Given the description of an element on the screen output the (x, y) to click on. 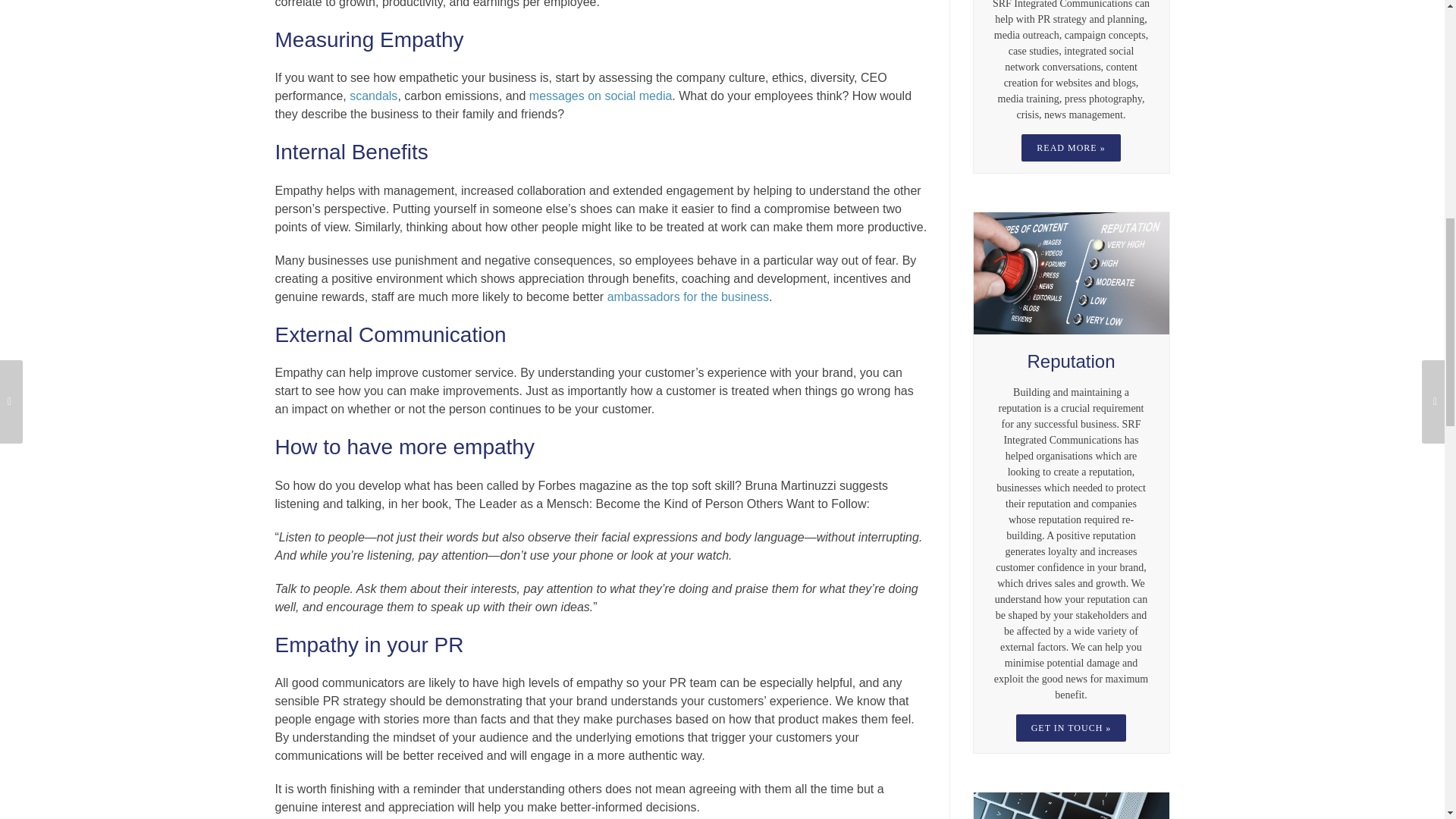
scandals (373, 95)
ambassadors for the business (687, 296)
messages on social media (600, 95)
